Given the description of an element on the screen output the (x, y) to click on. 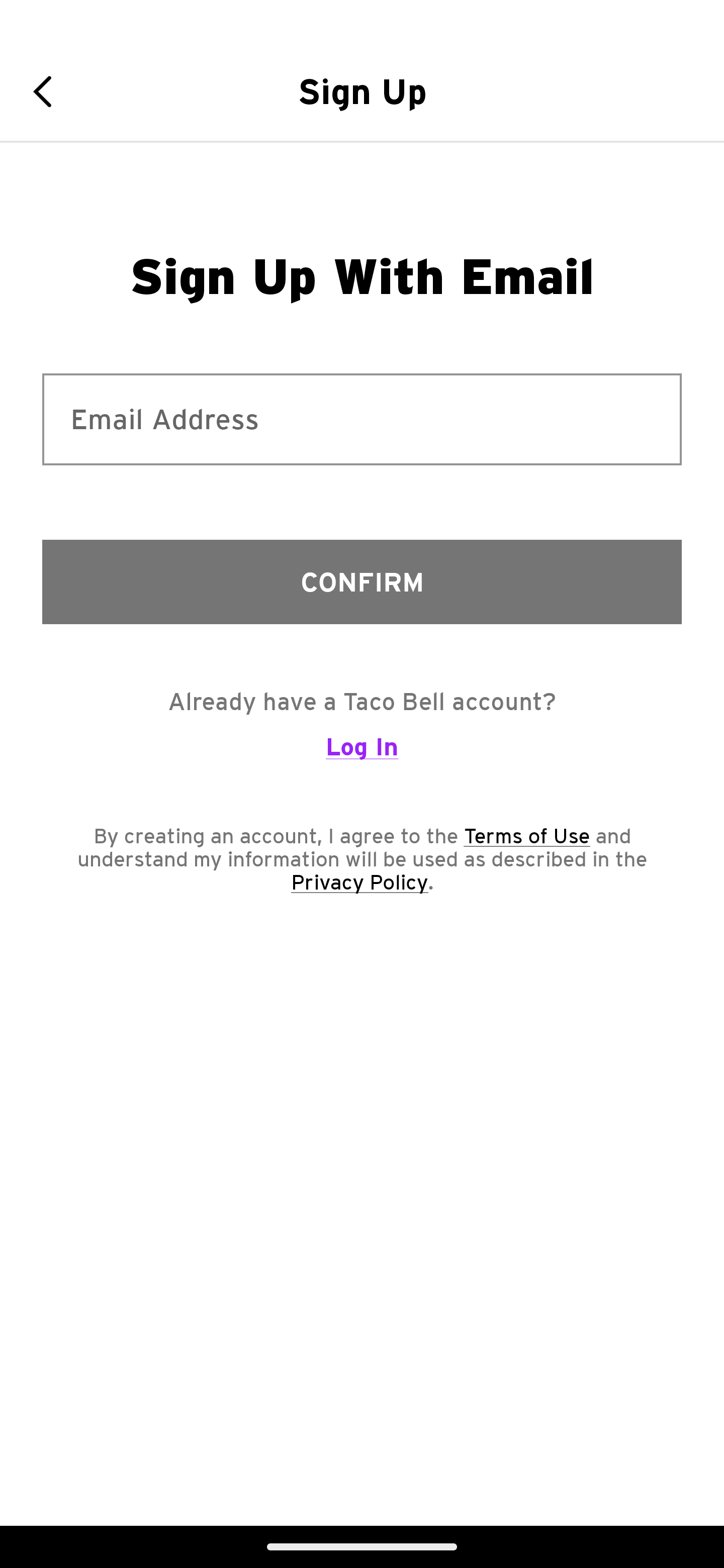
Navigate up (49, 91)
Email Address (361, 419)
CONFIRM (361, 581)
Log In (361, 754)
